Given the description of an element on the screen output the (x, y) to click on. 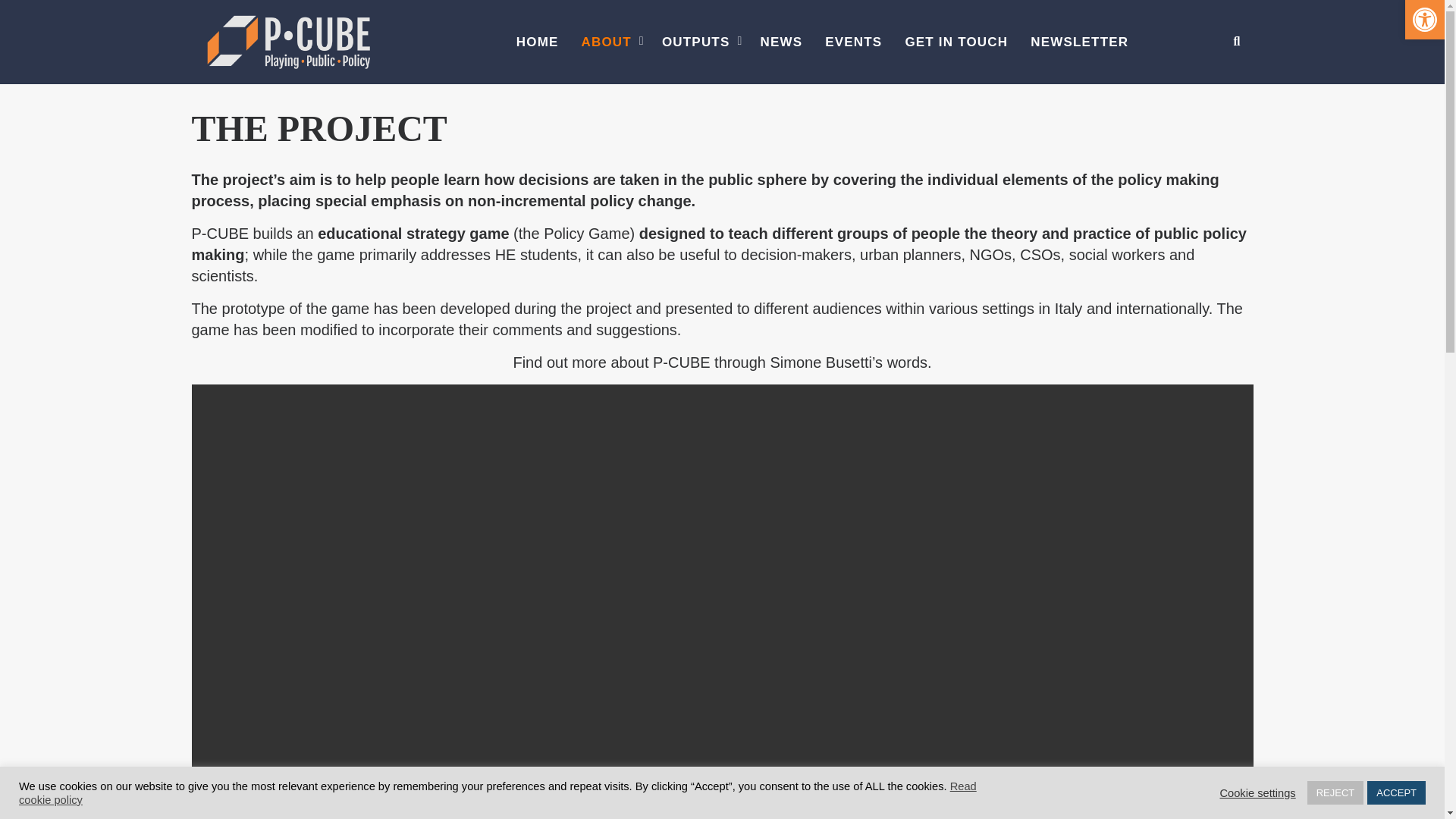
Search (1221, 98)
GET IN TOUCH (956, 41)
OUTPUTS (699, 41)
NEWSLETTER (1079, 41)
NEWS (780, 41)
Accessibility Tools (1424, 19)
ABOUT (610, 41)
HOME (537, 41)
EVENTS (853, 41)
